Given the description of an element on the screen output the (x, y) to click on. 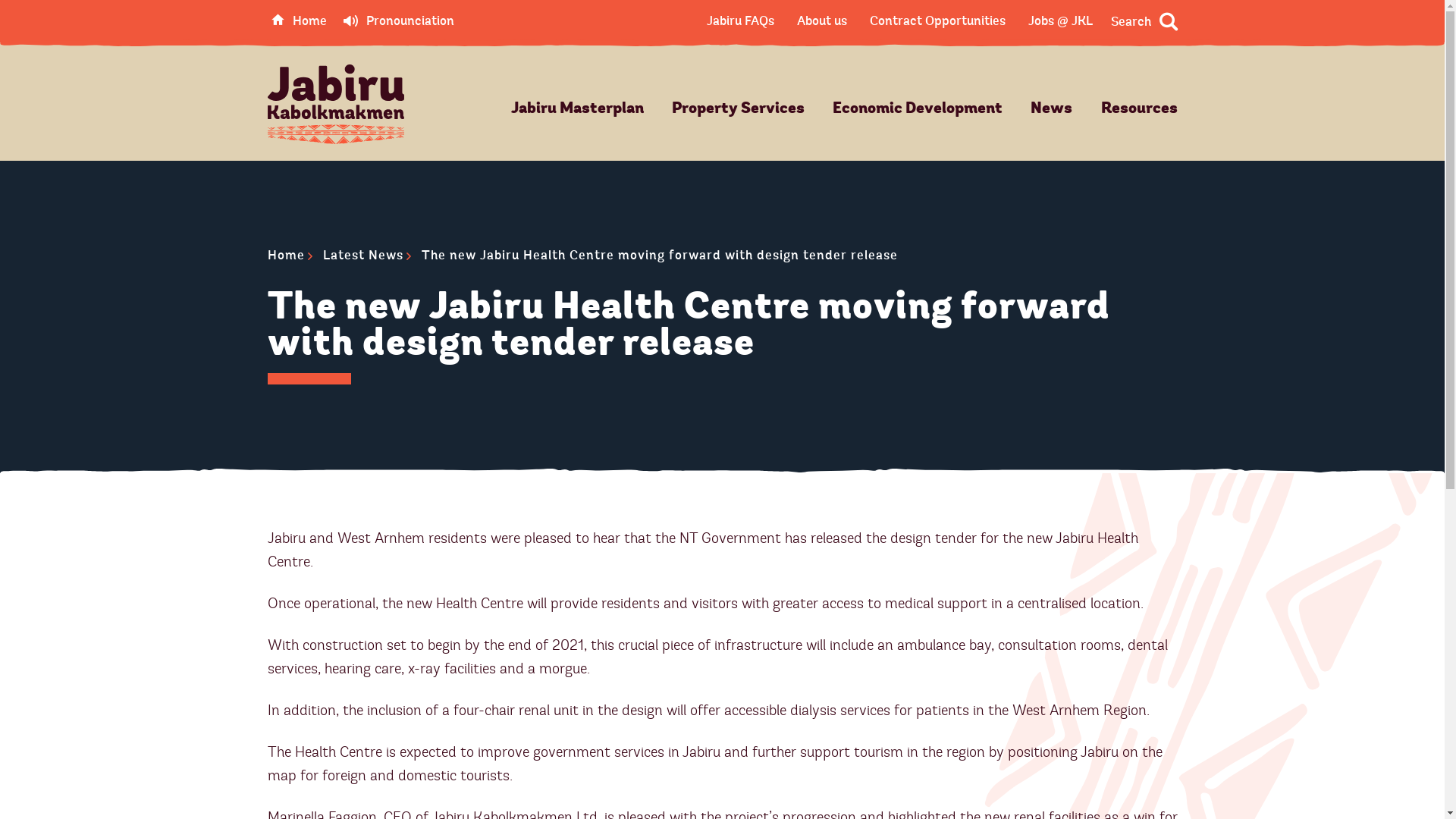
Property Services Element type: text (737, 109)
Search Element type: text (1143, 21)
Skip to main content Element type: text (22, 22)
Home Element type: text (285, 255)
Home Element type: text (298, 21)
Pronounciation Element type: text (397, 20)
Contract Opportunities Element type: text (936, 20)
Resources Element type: text (1139, 109)
Jabiru Masterplan Element type: text (577, 109)
News Element type: text (1051, 109)
Jobs @ JKL Element type: text (1060, 20)
Jabiru FAQs Element type: text (740, 20)
About us Element type: text (821, 20)
Latest News Element type: text (363, 255)
